Given the description of an element on the screen output the (x, y) to click on. 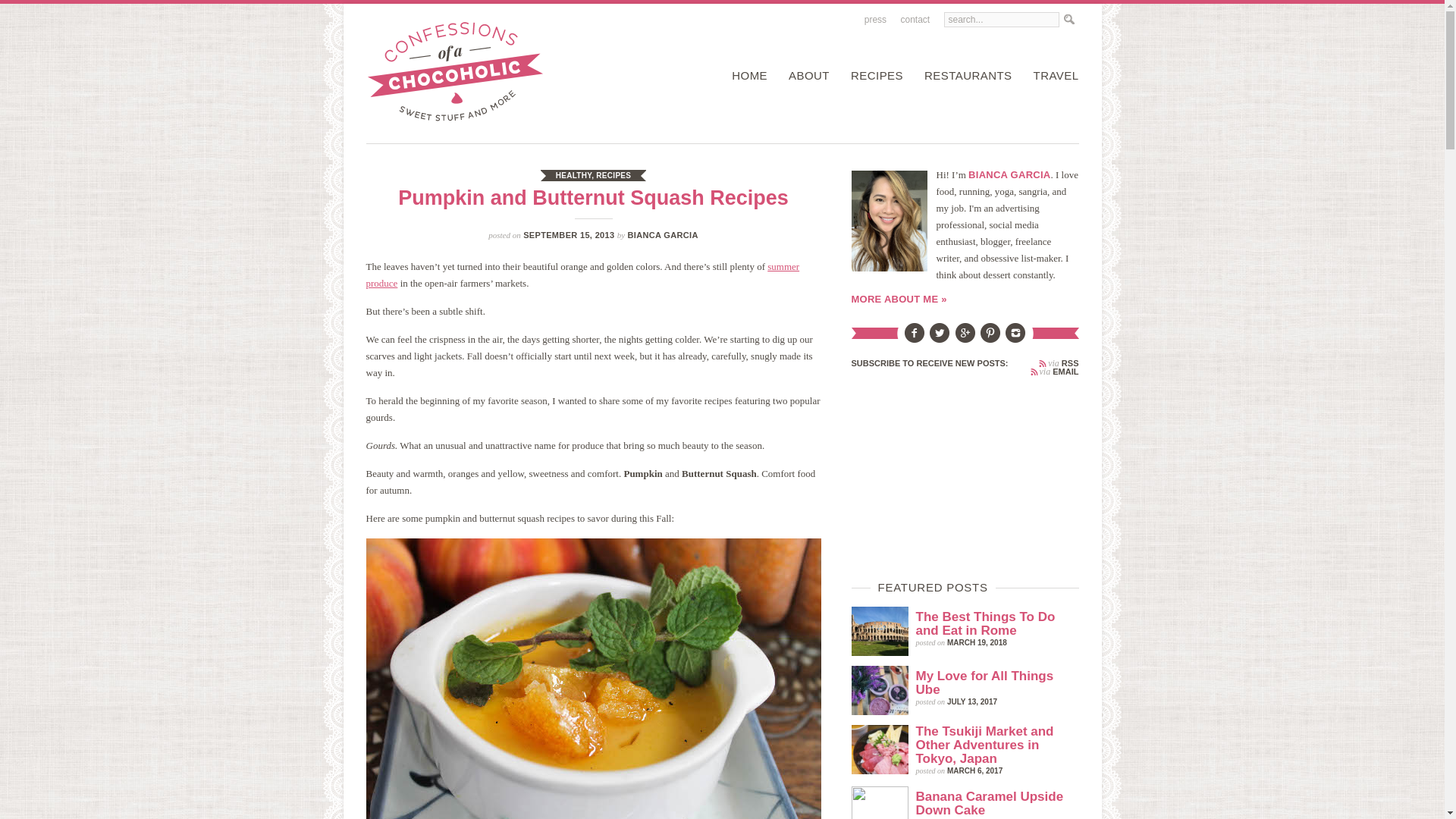
search... (1000, 19)
RESTAURANTS (964, 75)
summer produce (582, 275)
Twitter (939, 338)
HEALTHY (573, 175)
Facebook (914, 338)
TRAVEL (1052, 75)
RECIPES (872, 75)
ABOUT (804, 75)
Search (1068, 19)
